Given the description of an element on the screen output the (x, y) to click on. 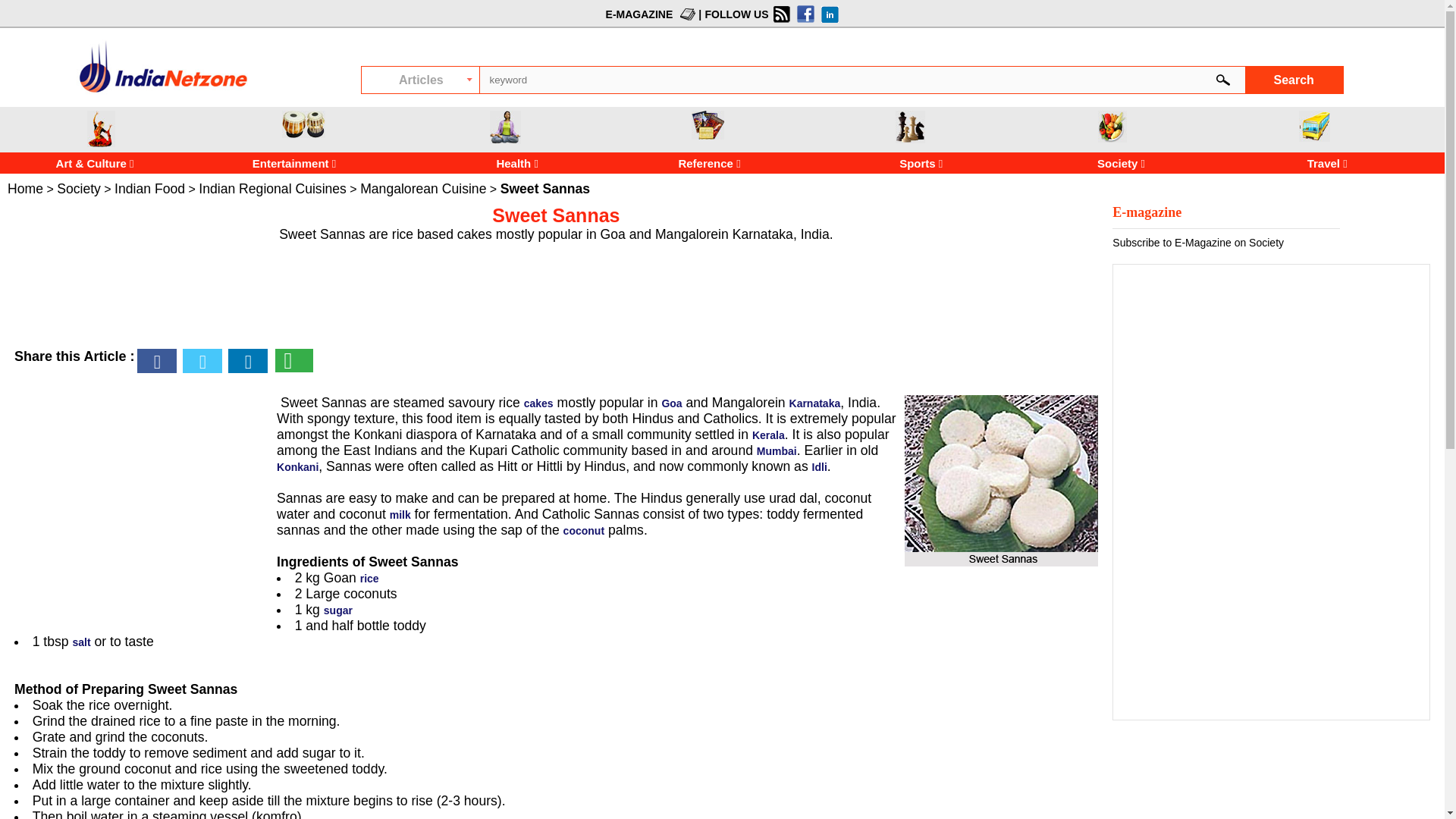
Sports (909, 126)
Follow on Facebook (803, 13)
Travel (1314, 125)
Home (25, 188)
Search (1293, 79)
Society (78, 188)
Reference (677, 163)
IndiaNetzone.com (162, 91)
Reference (707, 124)
E-MAGAZINE (638, 13)
Health (505, 127)
Largest  Encyclopedia on India with Lakhs of Articles (162, 66)
Health (475, 163)
 E-Magazine (686, 13)
Search (1293, 79)
